Given the description of an element on the screen output the (x, y) to click on. 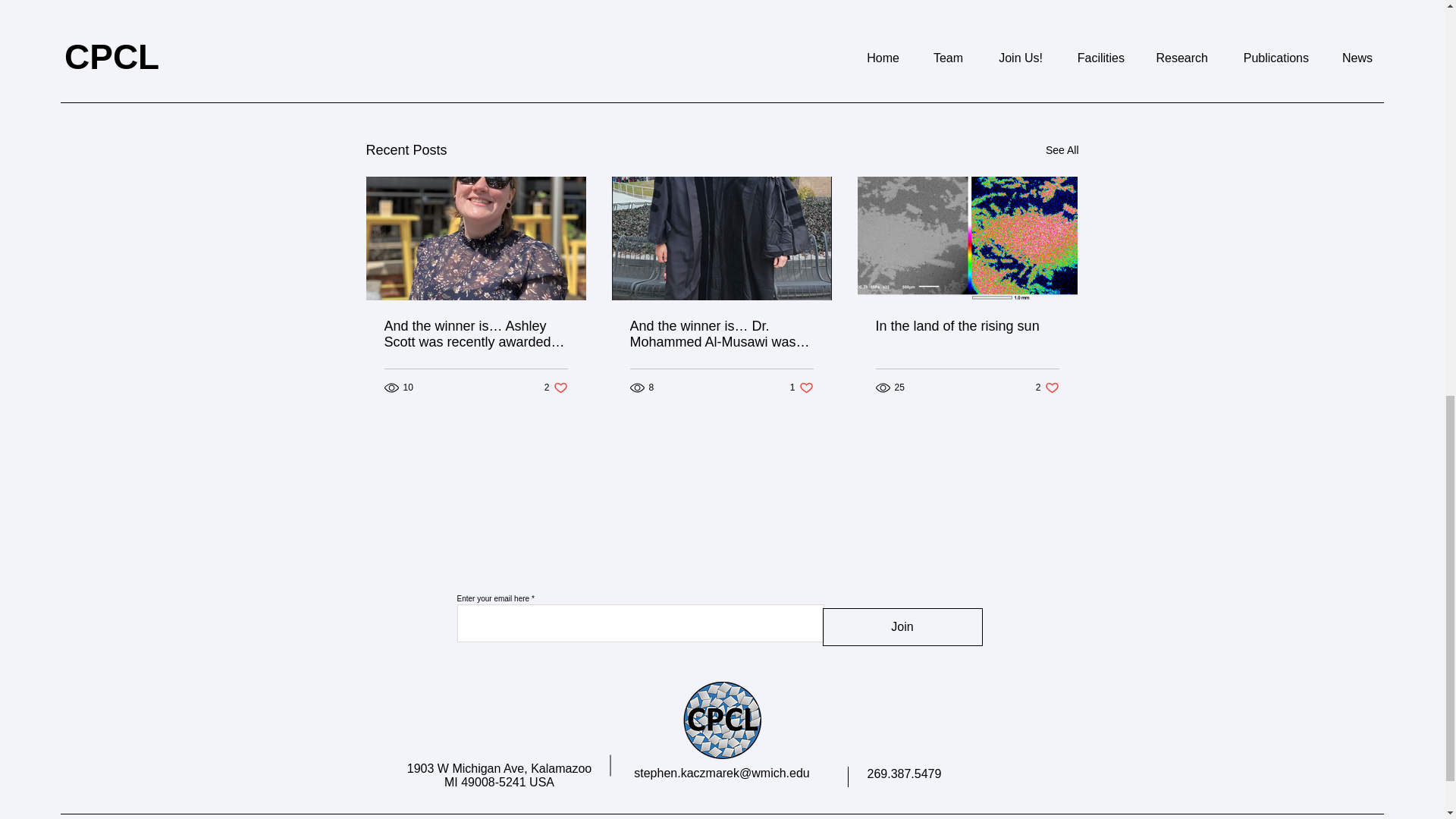
Join (901, 627)
CPCL.png (1047, 387)
Post not marked as liked (720, 721)
See All (995, 68)
In the land of the rising sun (1061, 150)
